Given the description of an element on the screen output the (x, y) to click on. 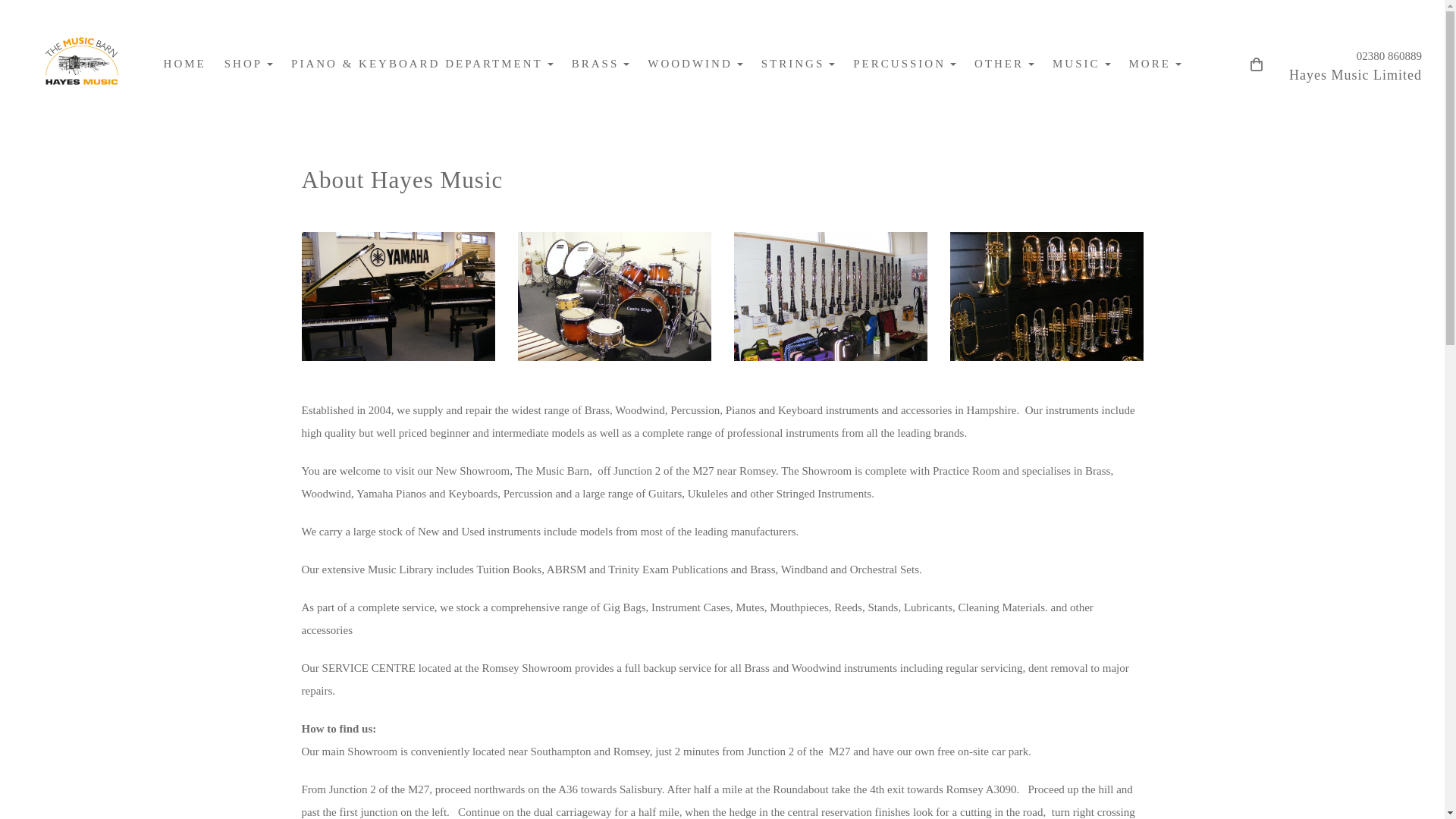
SHOP (248, 63)
HOME (184, 63)
